Given the description of an element on the screen output the (x, y) to click on. 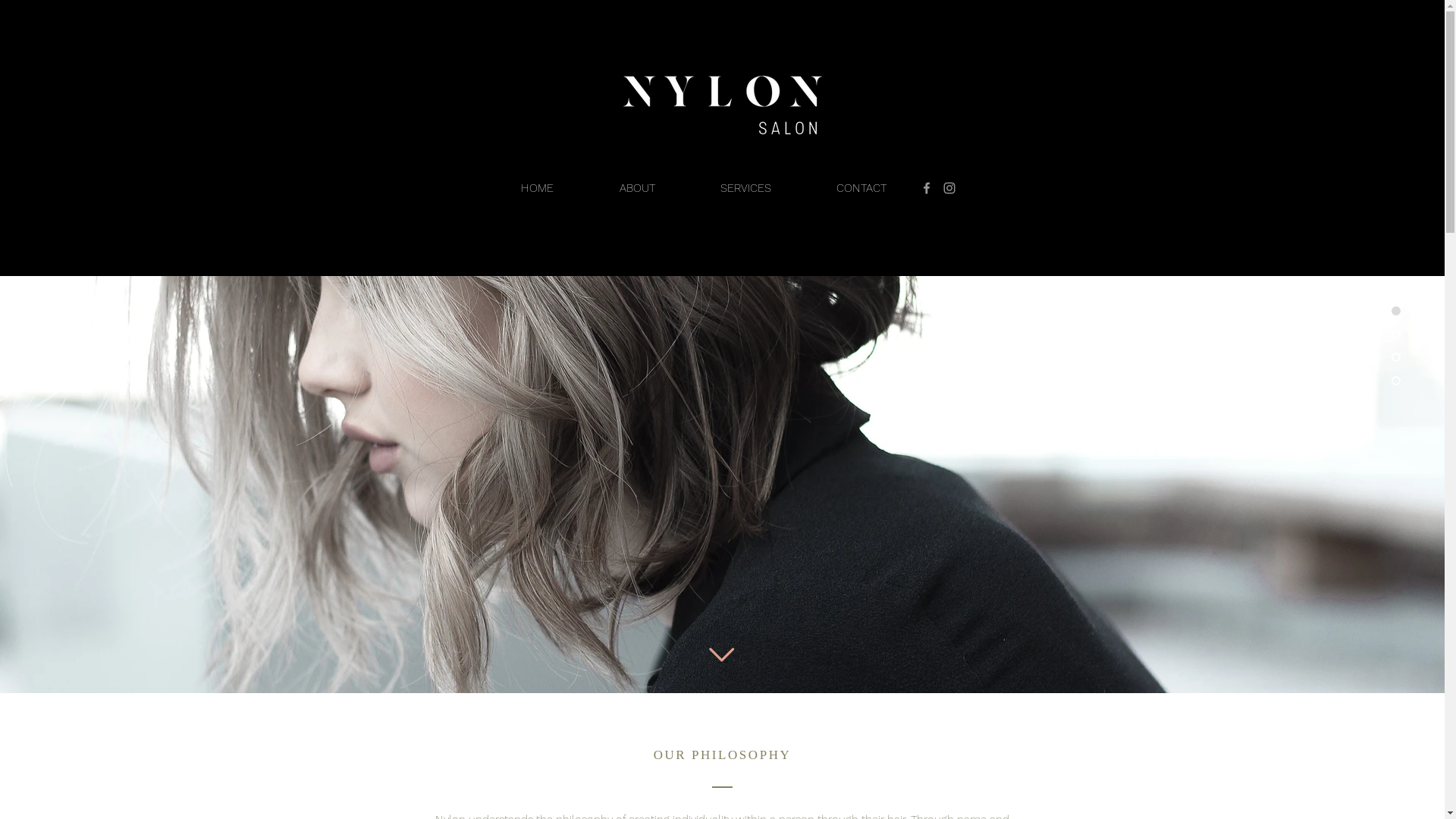
ABOUT Element type: text (636, 187)
HOME Element type: text (537, 187)
SERVICES Element type: text (745, 187)
CONTACT Element type: text (861, 187)
